Given the description of an element on the screen output the (x, y) to click on. 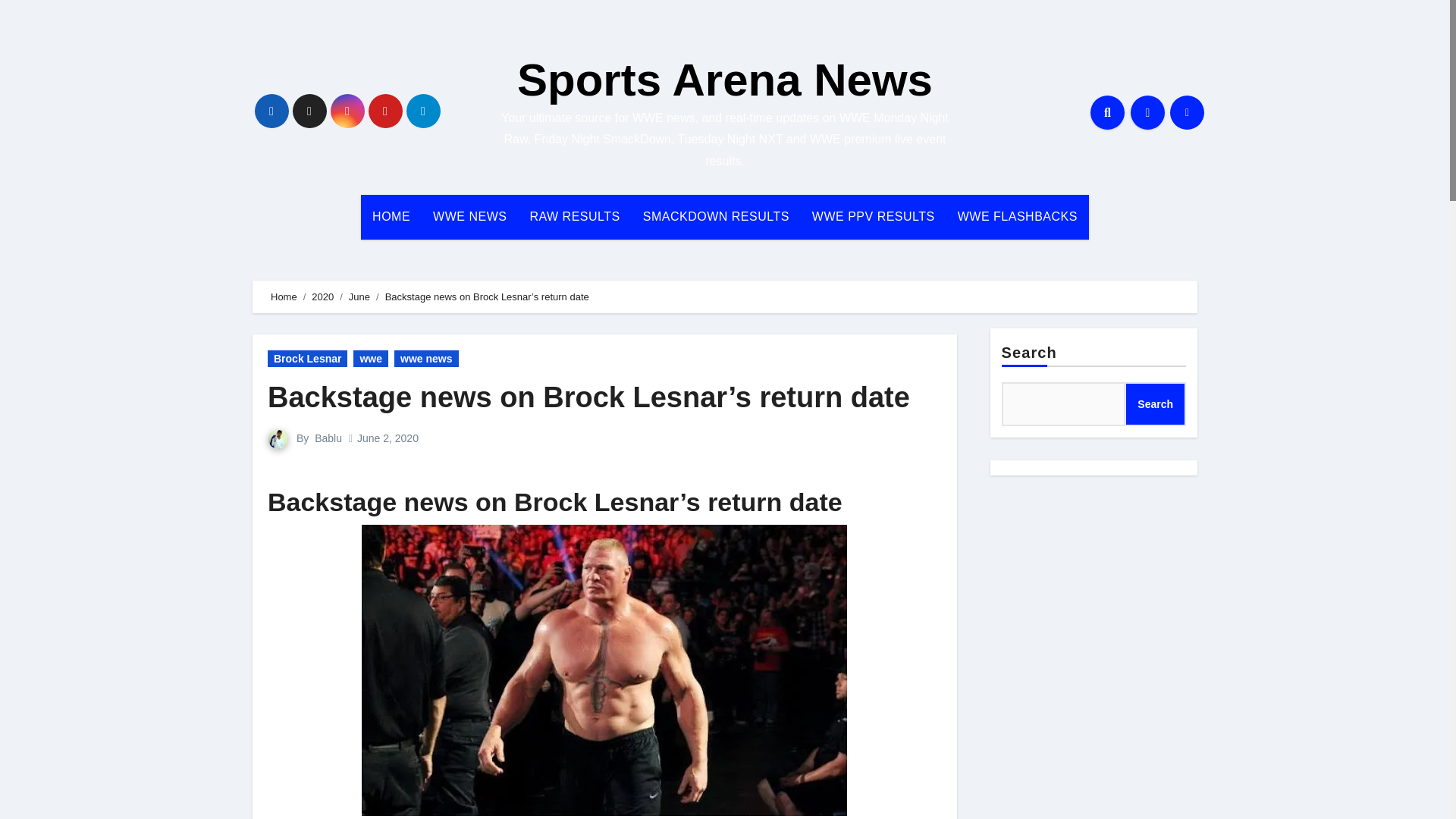
RAW RESULTS (574, 216)
SMACKDOWN RESULTS (715, 216)
RAW RESULTS (574, 216)
June 2, 2020 (387, 438)
WWE PPV RESULTS (873, 216)
WWE FLASHBACKS (1017, 216)
Brock Lesnar (307, 358)
WWE NEWS (470, 216)
SMACKDOWN RESULTS (715, 216)
June (359, 296)
WWE PPV RESULTS (873, 216)
HOME (391, 216)
Bablu (328, 438)
Sports Arena News (724, 79)
